Given the description of an element on the screen output the (x, y) to click on. 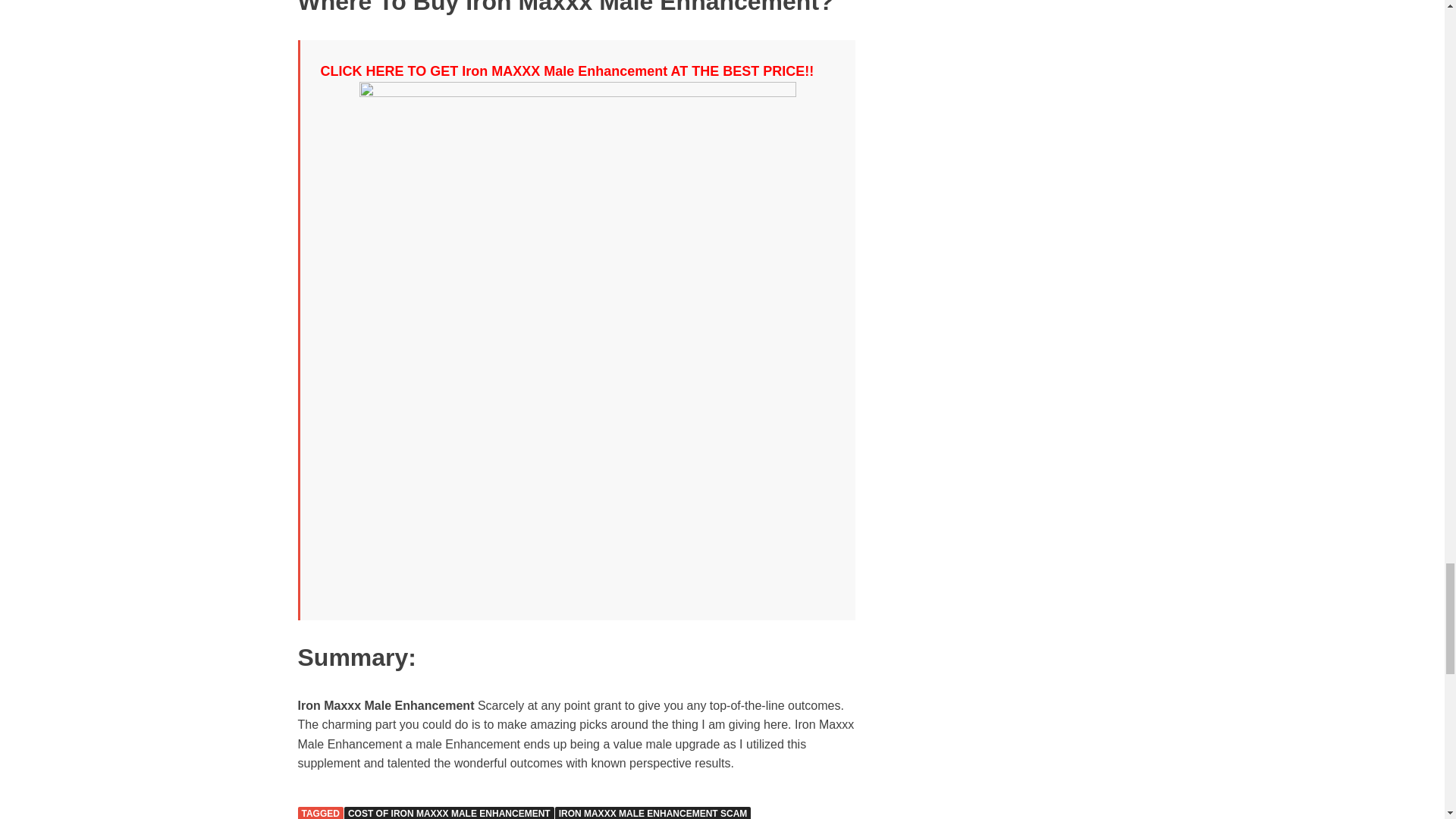
IRON MAXXX MALE ENHANCEMENT SCAM (652, 812)
COST OF IRON MAXXX MALE ENHANCEMENT (448, 812)
